Given the description of an element on the screen output the (x, y) to click on. 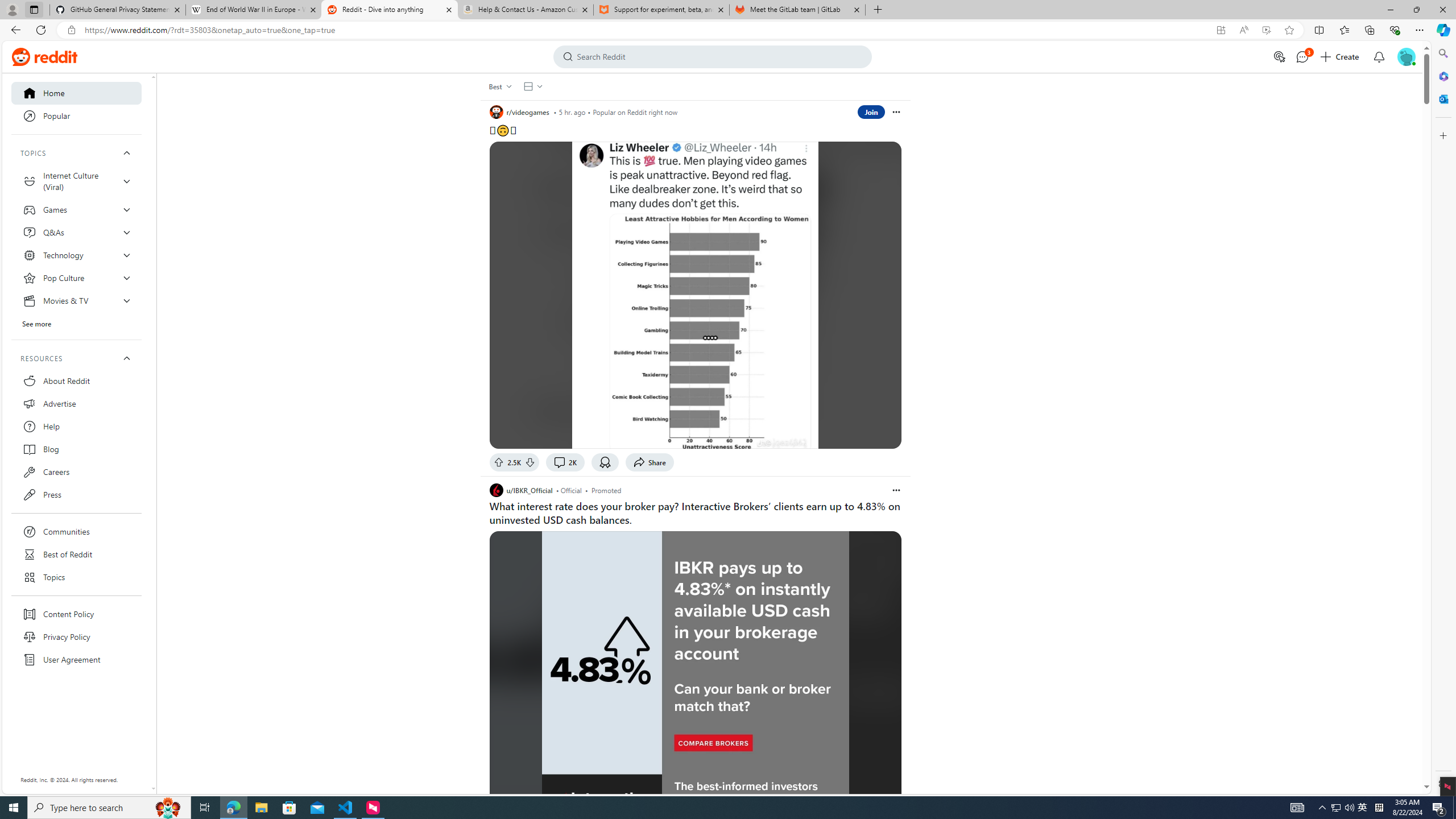
About Reddit (76, 380)
Downvote (530, 461)
Content Policy (76, 613)
u/IBKR_Official avatar u/IBKR_Official (521, 490)
Meet the GitLab team | GitLab (797, 9)
r/videogames icon r/videogames (518, 112)
Help & Contact Us - Amazon Customer Service - Sleeping (525, 9)
